Given the description of an element on the screen output the (x, y) to click on. 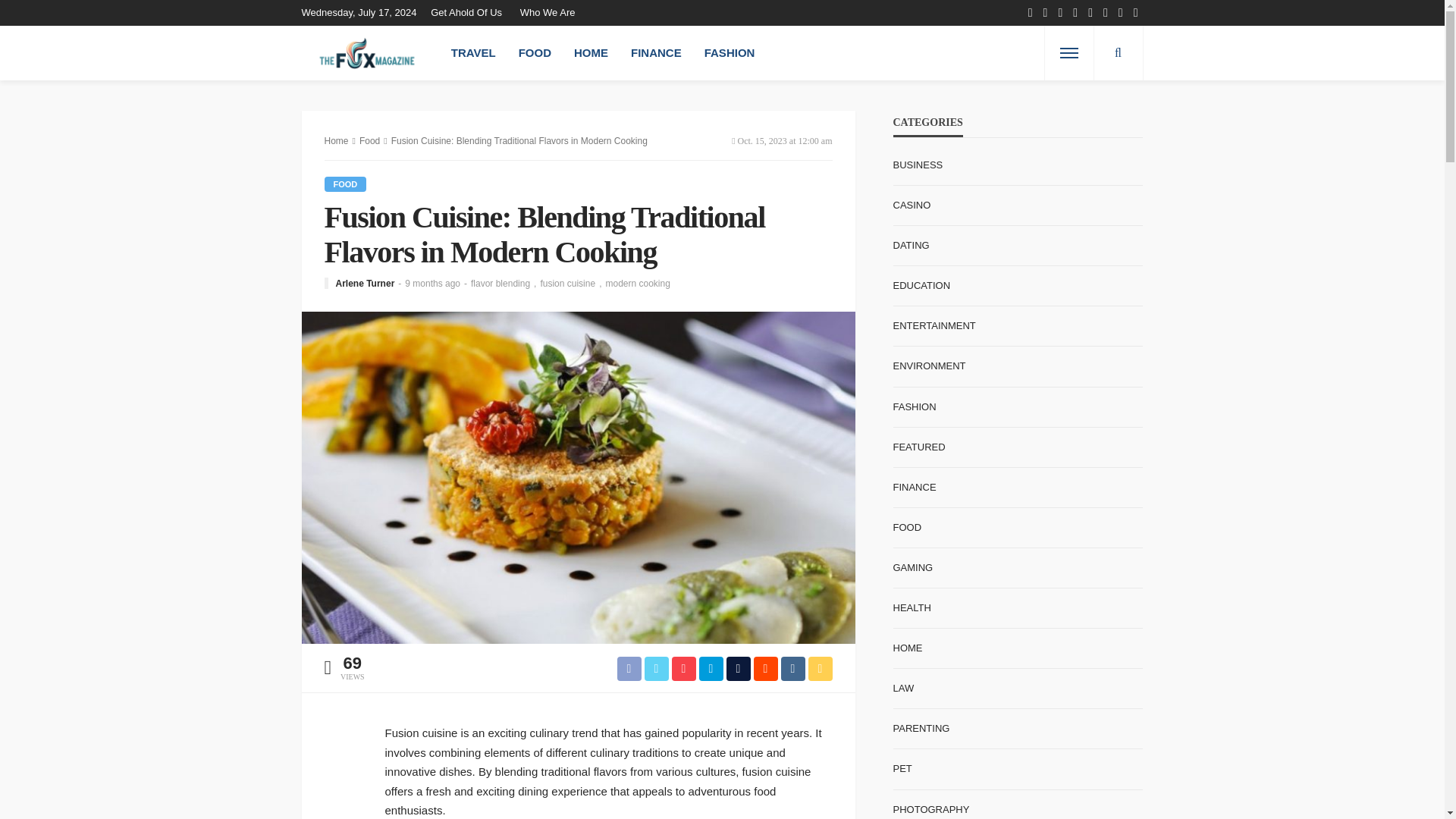
flavor blending (505, 283)
Arlene Turner (364, 283)
fusion cuisine (572, 283)
flavor blending (505, 283)
fusion cuisine (572, 283)
modern cooking (637, 283)
FASHION (730, 52)
Food (345, 183)
Food (369, 140)
The Flux Magazine (366, 52)
FOOD (534, 52)
Who We Are (547, 12)
HOME (591, 52)
FINANCE (656, 52)
FOOD (345, 183)
